Given the description of an element on the screen output the (x, y) to click on. 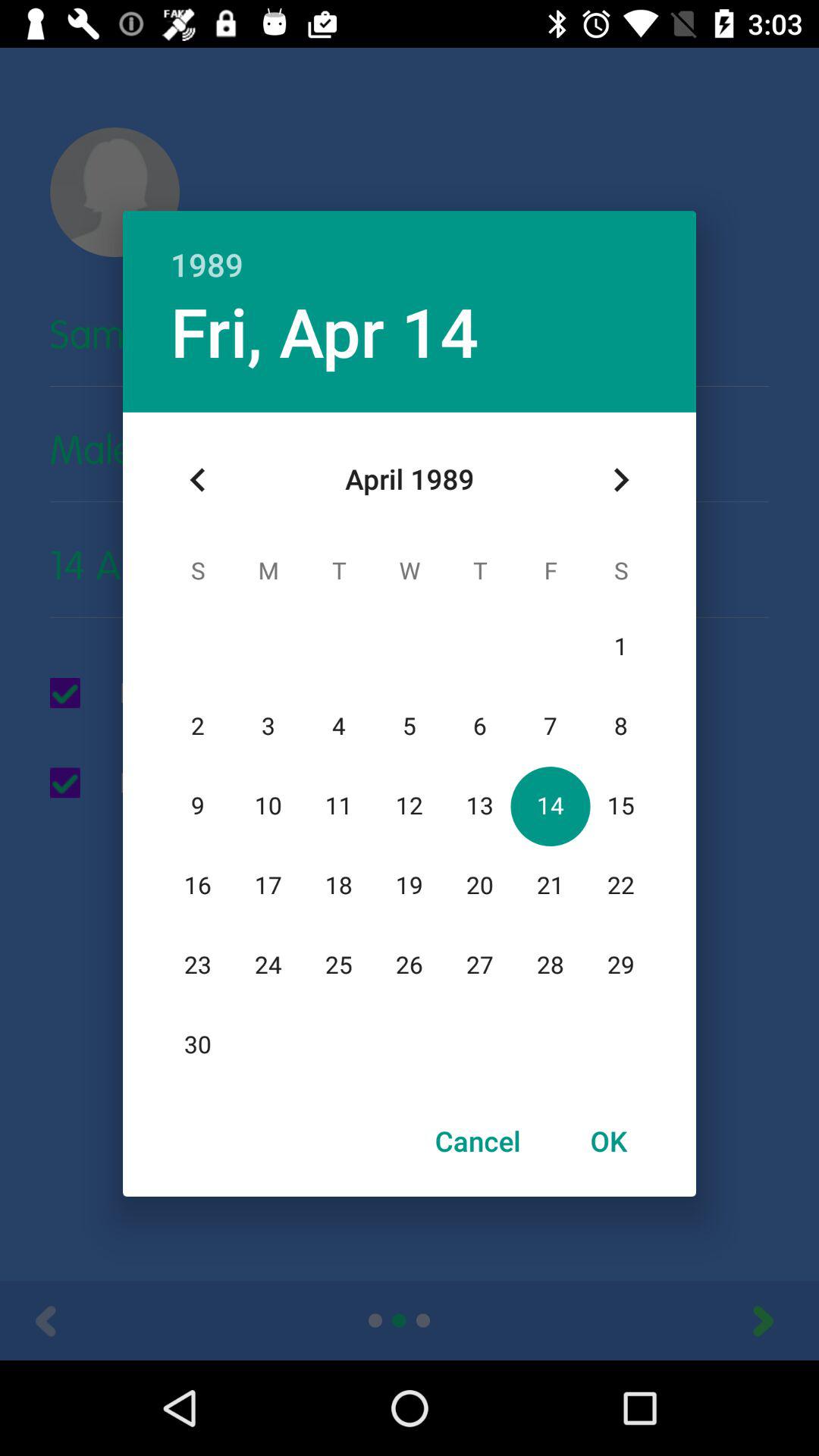
scroll to the fri, apr 14 (324, 331)
